Given the description of an element on the screen output the (x, y) to click on. 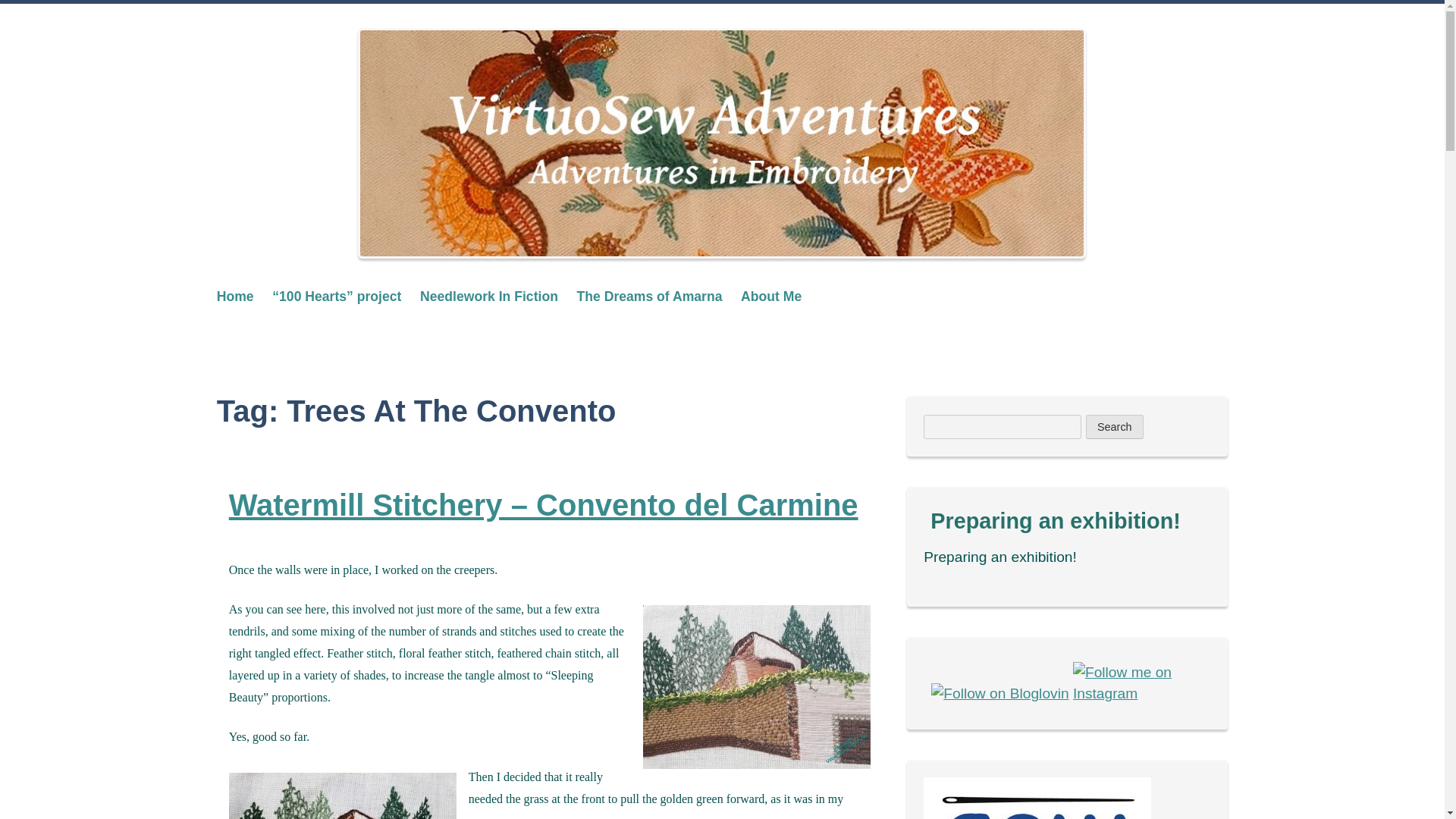
Search (1114, 426)
Needlework In Fiction (488, 296)
About Me (771, 296)
Follow VirtuoSew Adventures on Bloglovin (999, 693)
The Dreams of Amarna (649, 296)
